Given the description of an element on the screen output the (x, y) to click on. 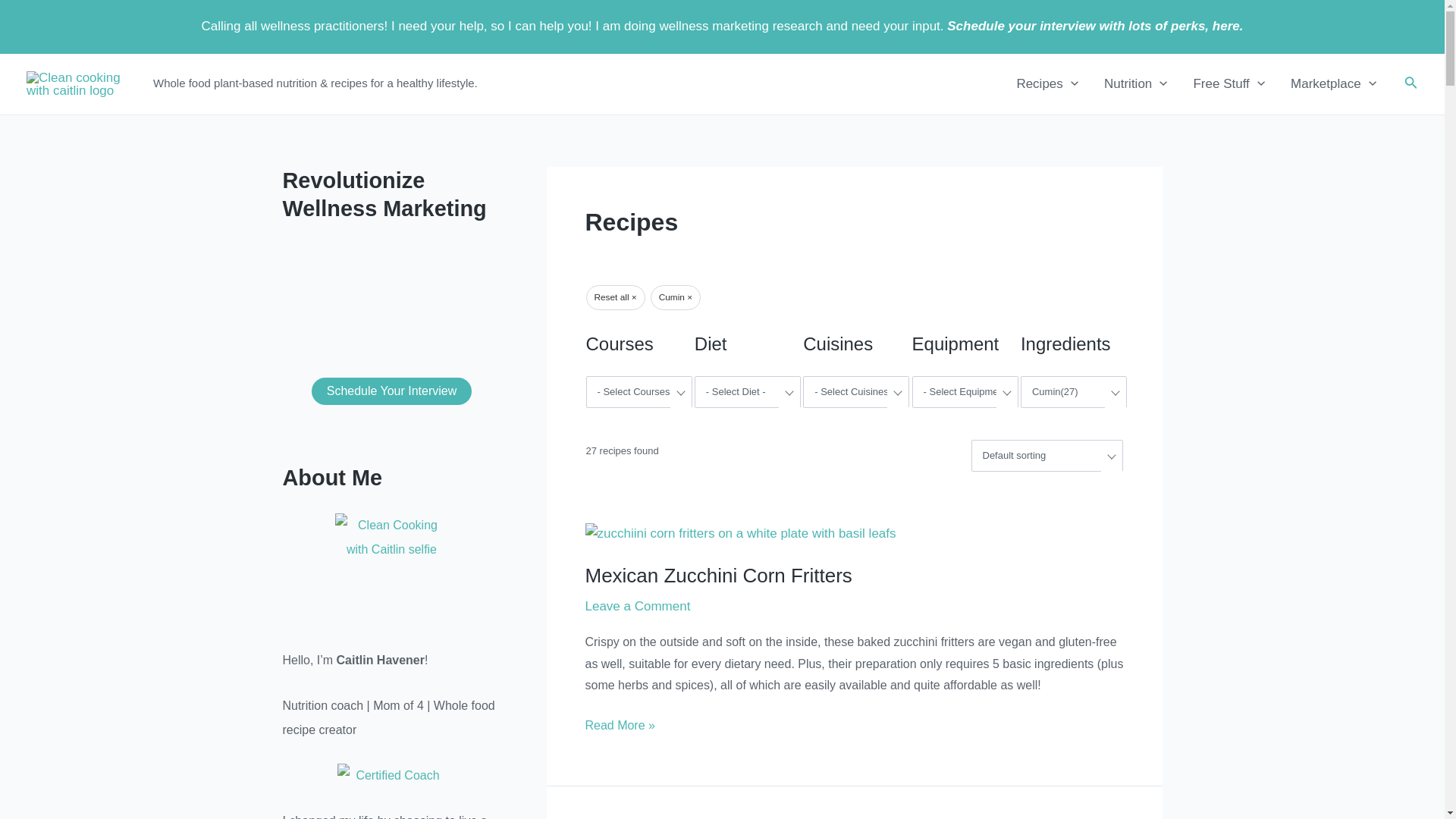
Recipes (1046, 84)
- Select Cuisines - (855, 391)
- Select Courses - (638, 391)
- Select Equipment - (964, 391)
Default sorting (1047, 455)
- Select Diet - (747, 391)
Vimeo Video (391, 295)
Schedule your interview with lots of perks, here. (1095, 25)
Cumin (1073, 391)
